Given the description of an element on the screen output the (x, y) to click on. 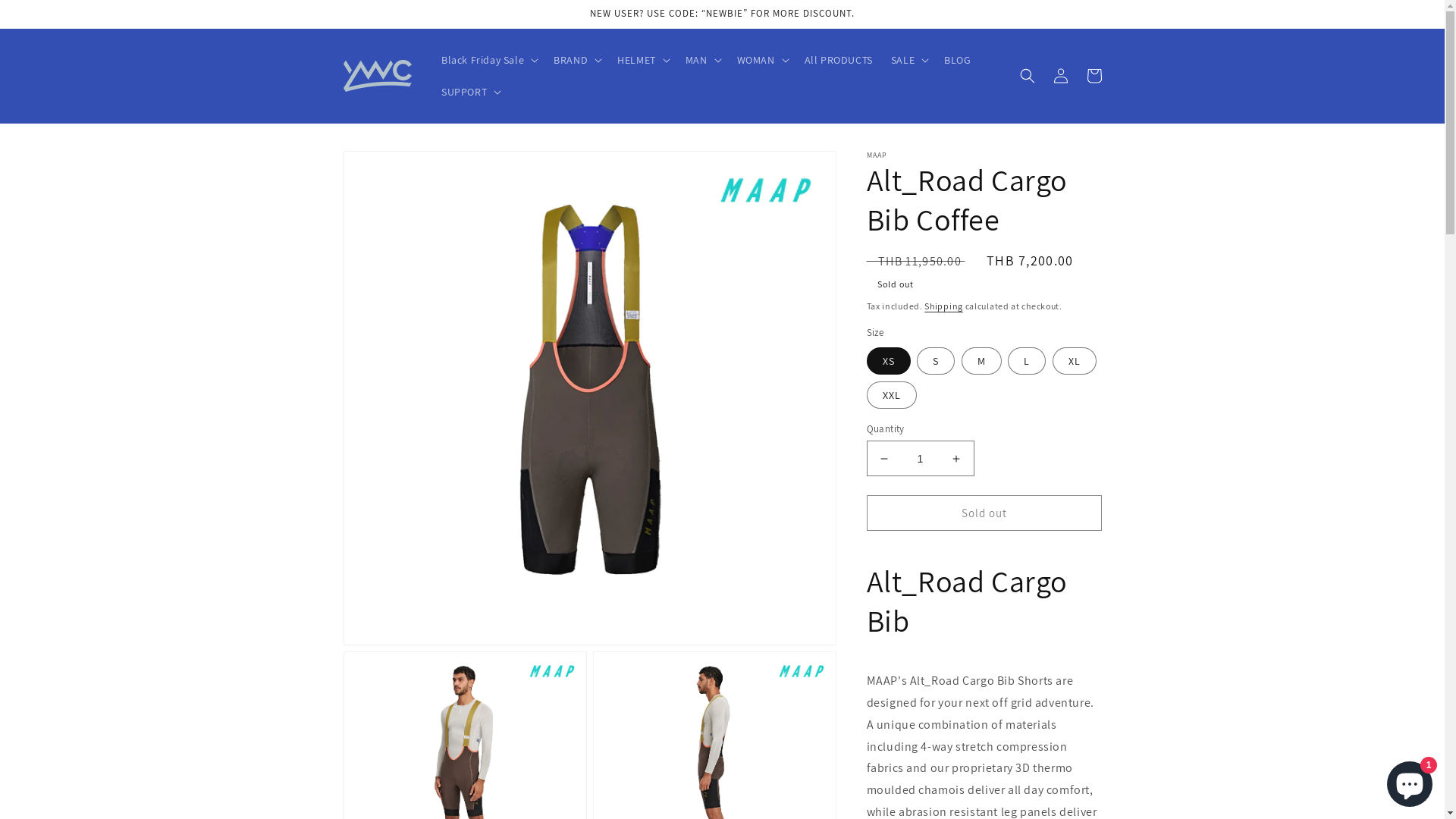
Log in Element type: text (1059, 75)
BLOG Element type: text (957, 59)
Cart Element type: text (1093, 75)
Decrease quantity for Alt_Road Cargo Bib Coffee Element type: text (884, 458)
Increase quantity for Alt_Road Cargo Bib Coffee Element type: text (955, 458)
Skip to product information Element type: text (388, 167)
Shopify online store chat Element type: hover (1409, 780)
Shipping Element type: text (943, 305)
All PRODUCTS Element type: text (838, 59)
Sold out Element type: text (983, 513)
